Given the description of an element on the screen output the (x, y) to click on. 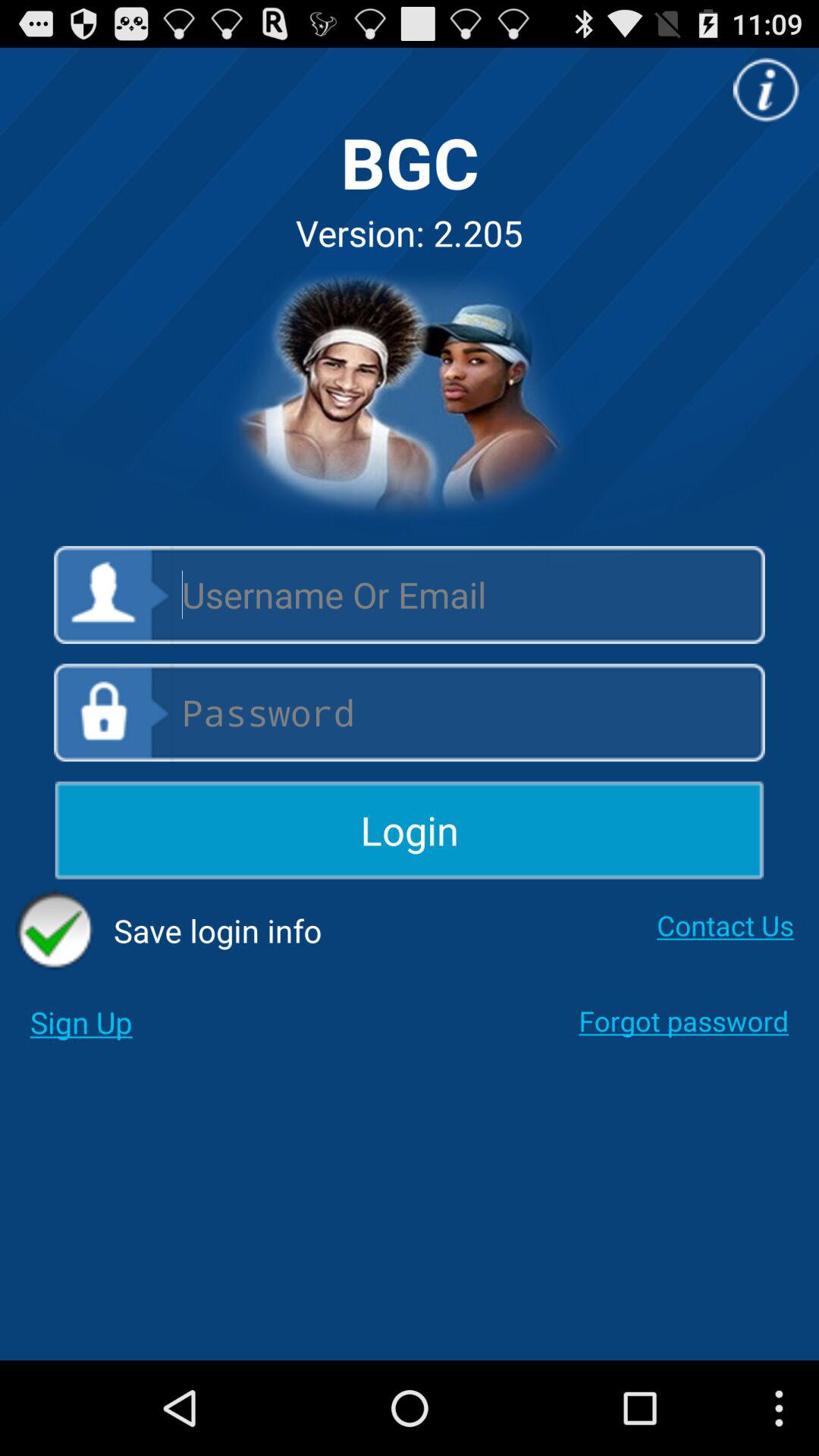
click the   save login info (168, 930)
